Given the description of an element on the screen output the (x, y) to click on. 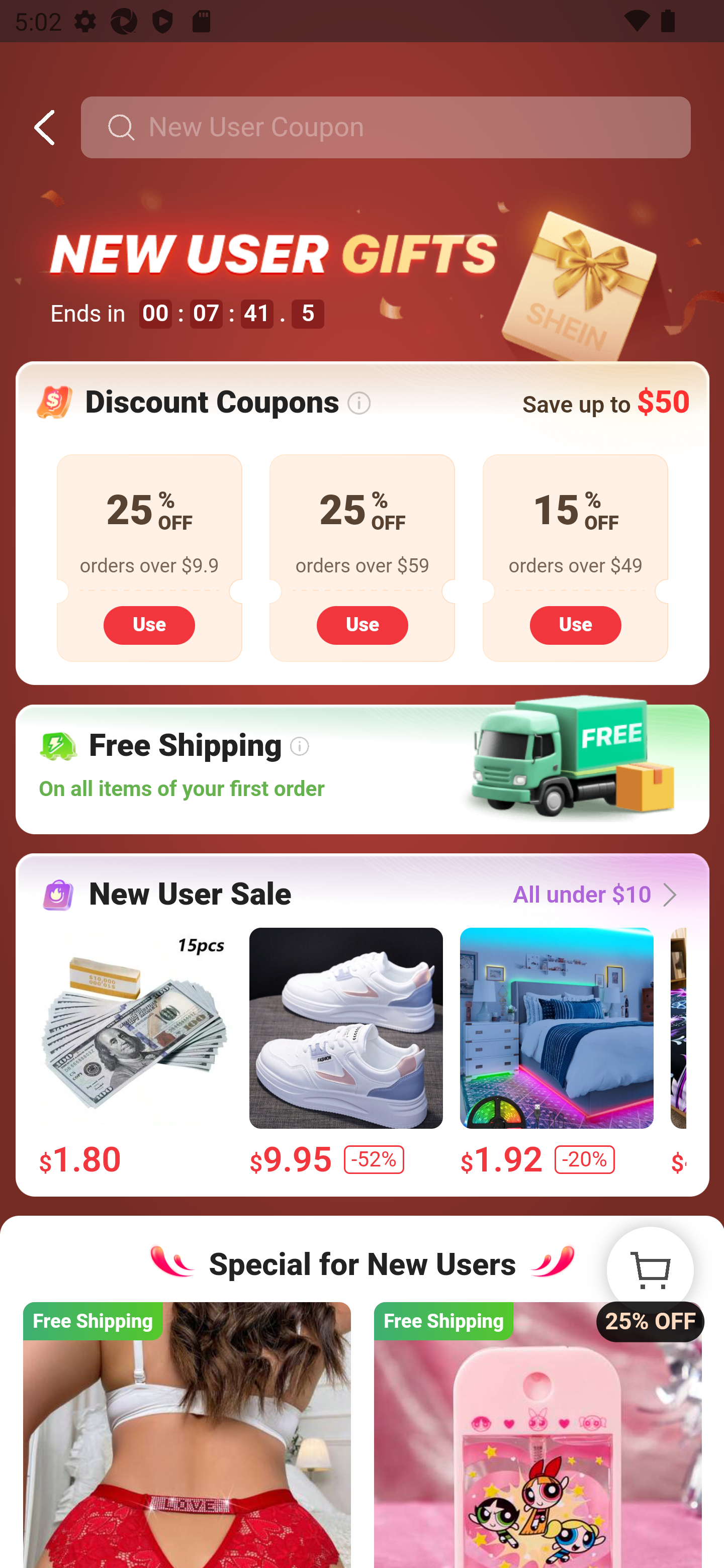
New User Coupon (384, 127)
Use (149, 624)
Use (362, 624)
Use (574, 624)
All under $10 (599, 894)
$1.80 (134, 1052)
$9.95 -52% (345, 1052)
$1.92 -20% (556, 1052)
25% OFF Enjoy 25% OFF Now ! (650, 1270)
Free Shipping (186, 1434)
Free Shipping (536, 1434)
